Given the description of an element on the screen output the (x, y) to click on. 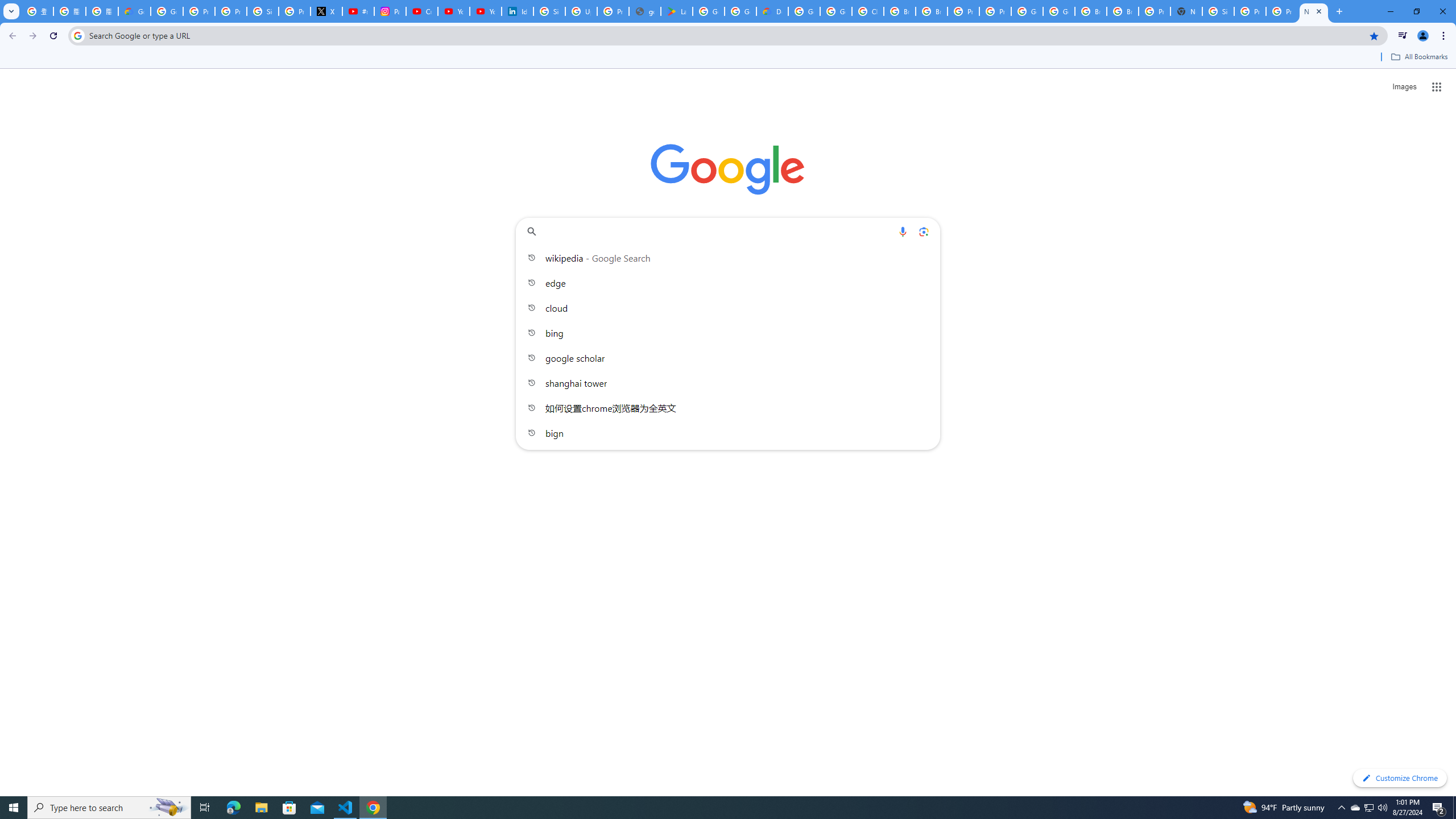
Add shortcut (727, 287)
New Tab (1313, 11)
Last Shelter: Survival - Apps on Google Play (676, 11)
Search Google or type a URL (727, 230)
Search icon (77, 35)
Search for Images  (1403, 87)
